Given the description of an element on the screen output the (x, y) to click on. 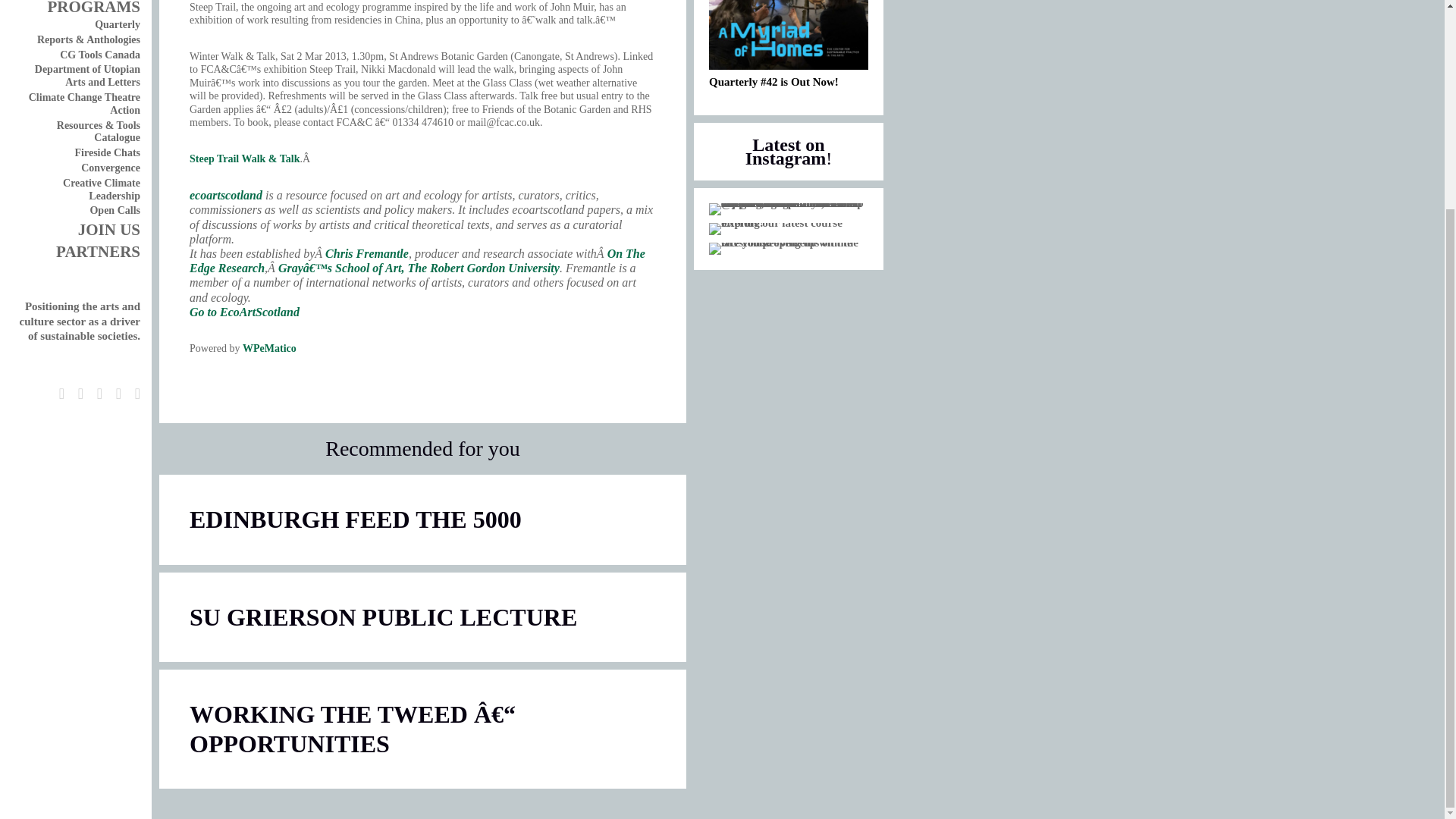
Quarterly (116, 24)
Fireside Chats (107, 152)
Convergence (110, 167)
JOIN US (108, 229)
Department of Utopian Arts and Letters (86, 75)
CG Tools Canada (99, 54)
PROGRAMS (92, 7)
Climate Change Theatre Action (84, 103)
Creative Climate Leadership (100, 189)
PARTNERS (97, 251)
Open Calls (113, 210)
